Given the description of an element on the screen output the (x, y) to click on. 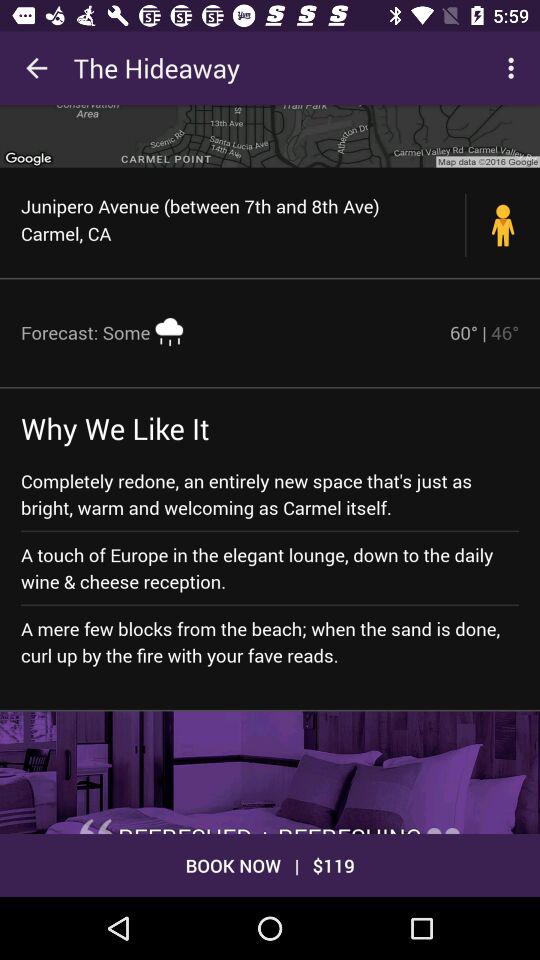
flip to the junipero avenue between (243, 219)
